Given the description of an element on the screen output the (x, y) to click on. 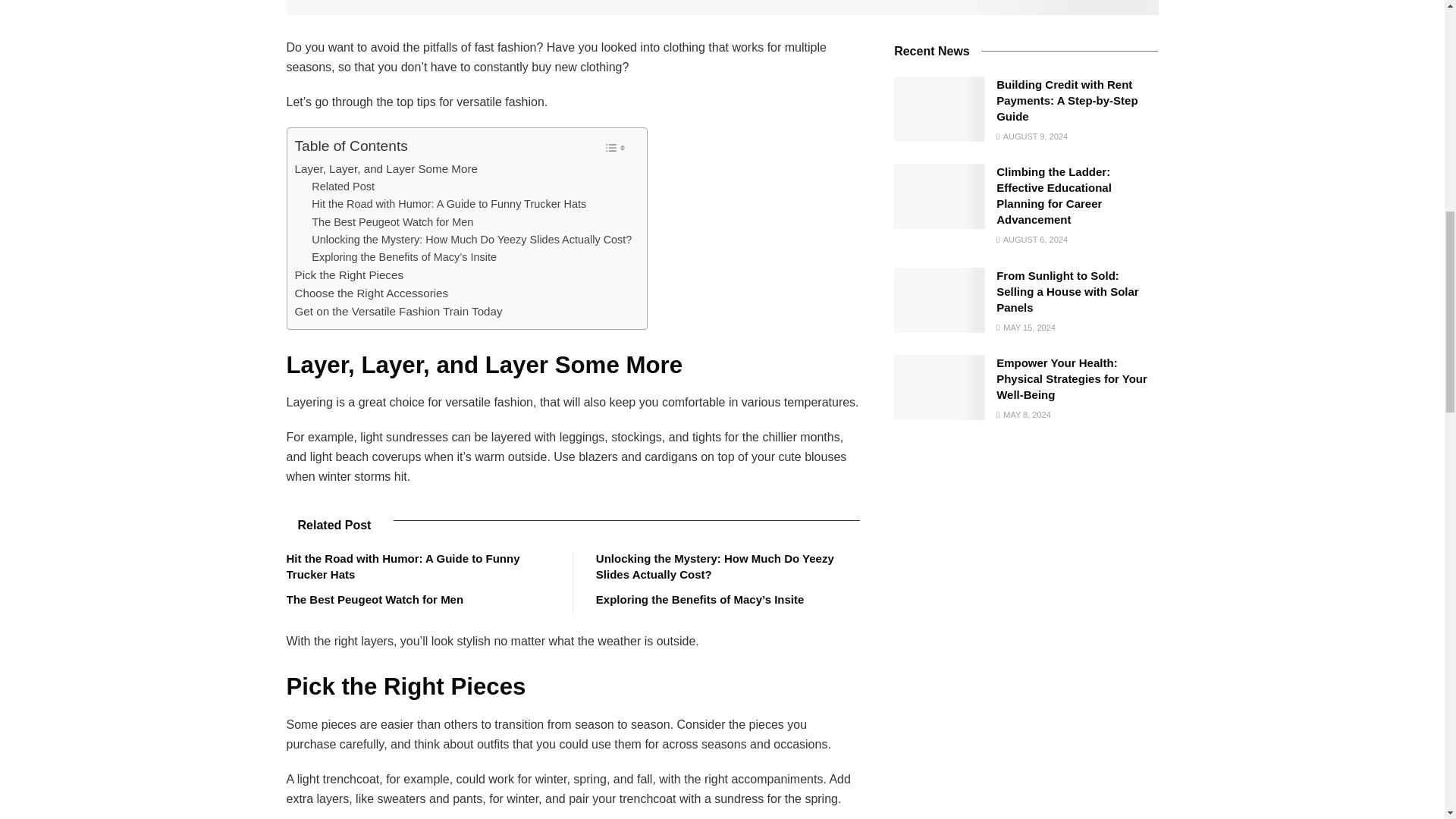
Layer, Layer, and Layer Some More (385, 168)
Hit the Road with Humor: A Guide to Funny Trucker Hats (448, 203)
Choose the Right Accessories (371, 293)
Pick the Right Pieces (348, 275)
The Best Peugeot Watch for Men (392, 221)
Related Post (342, 186)
